Given the description of an element on the screen output the (x, y) to click on. 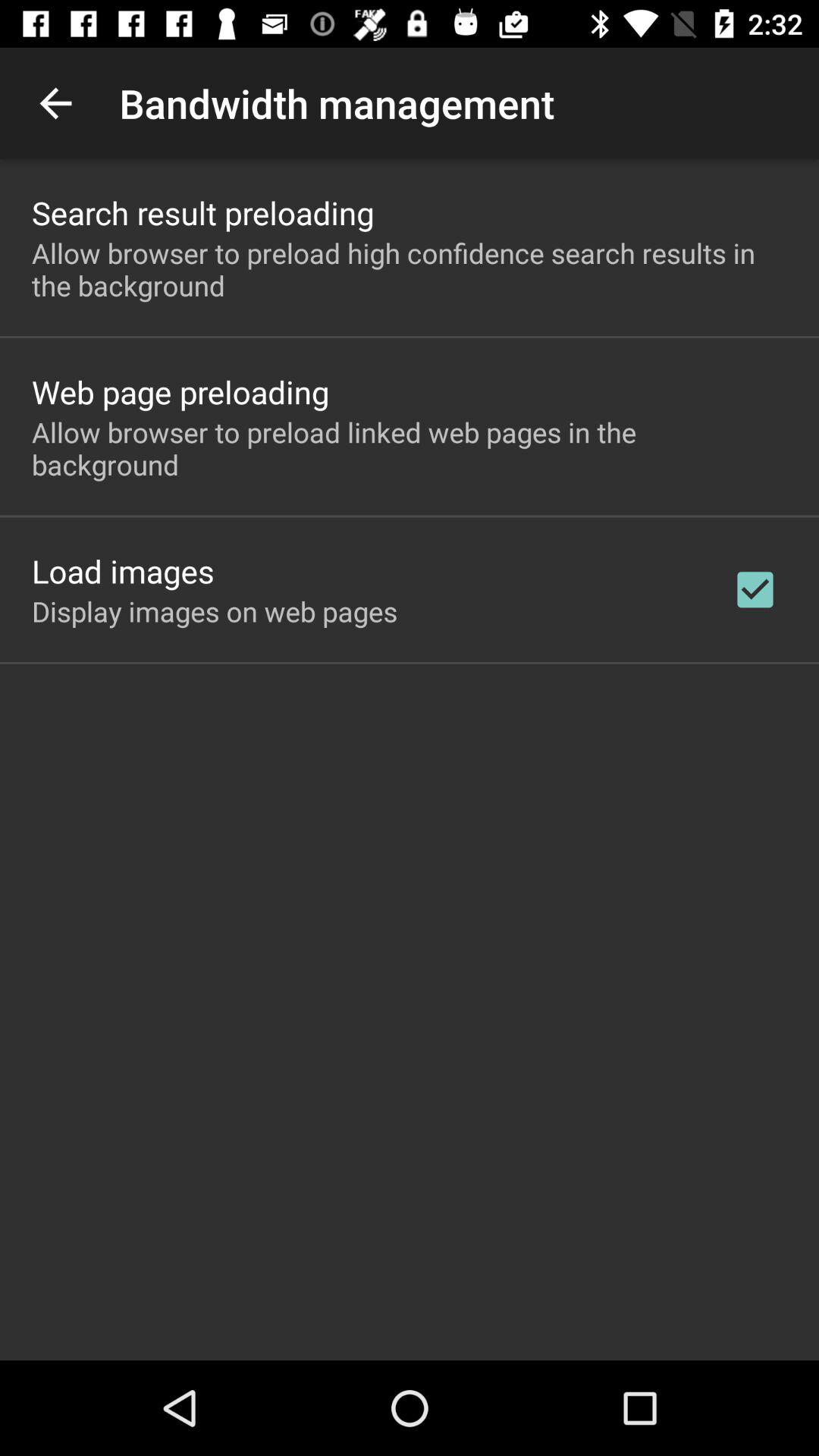
swipe to display images on icon (214, 611)
